Given the description of an element on the screen output the (x, y) to click on. 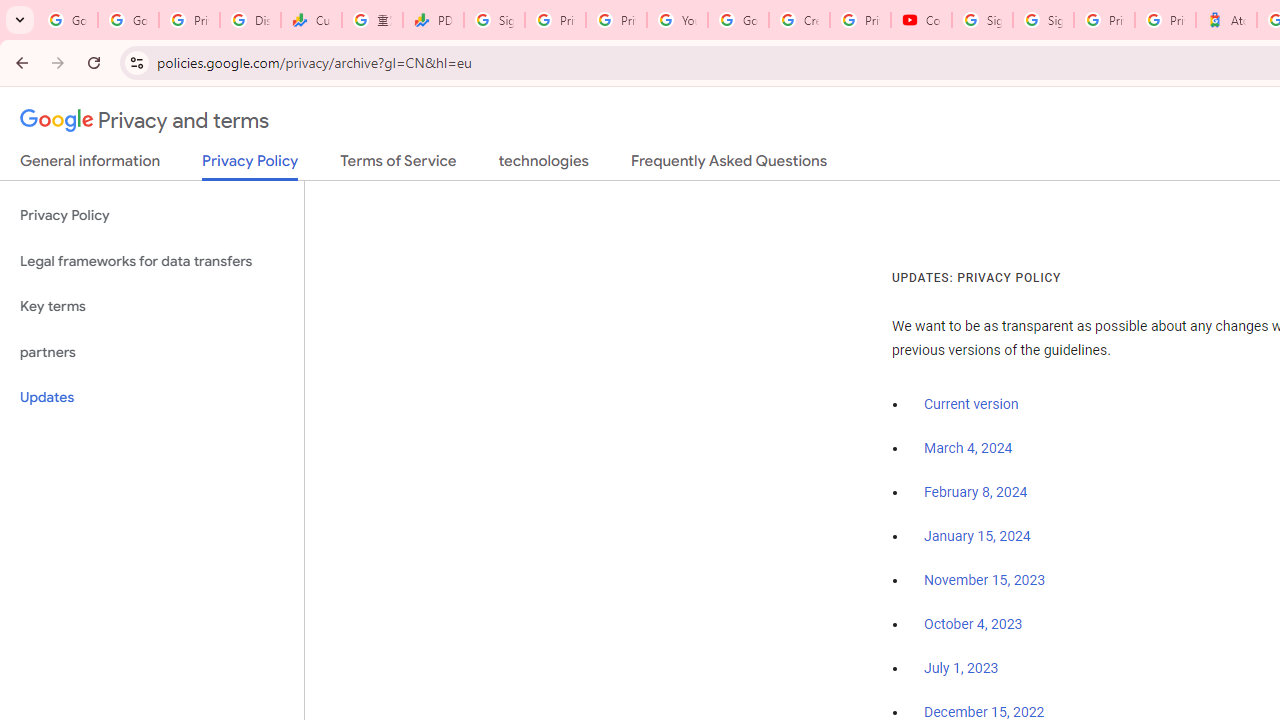
partners (152, 352)
Sign in - Google Accounts (1042, 20)
Frequently Asked Questions (727, 165)
January 15, 2024 (977, 536)
Sign in - Google Accounts (493, 20)
Sign in - Google Accounts (982, 20)
Google Workspace Admin Community (67, 20)
Legal frameworks for data transfers (152, 261)
Privacy and terms (145, 121)
Current version (971, 404)
General information (90, 165)
